Given the description of an element on the screen output the (x, y) to click on. 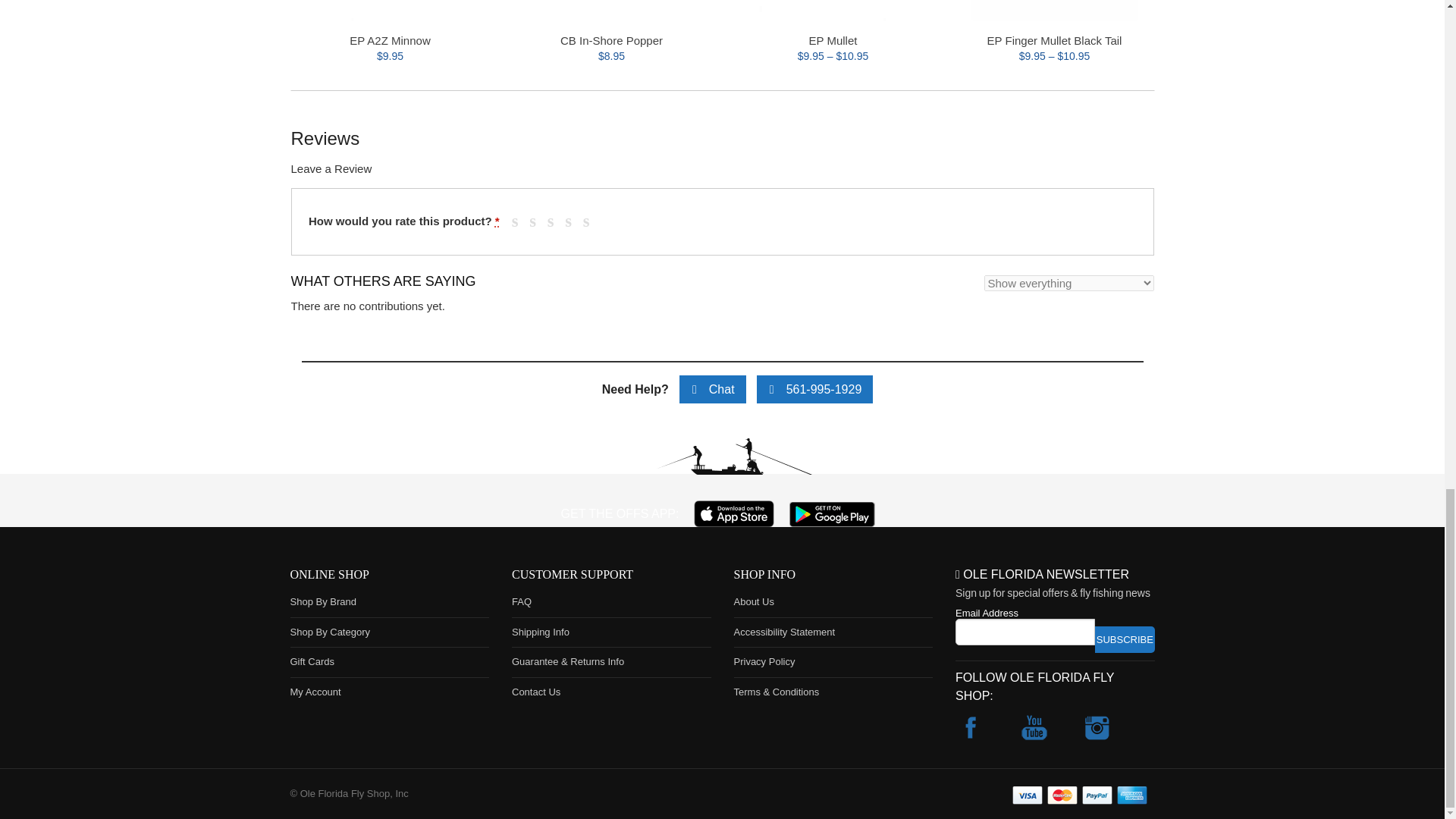
Subscribe (1124, 639)
